Given the description of an element on the screen output the (x, y) to click on. 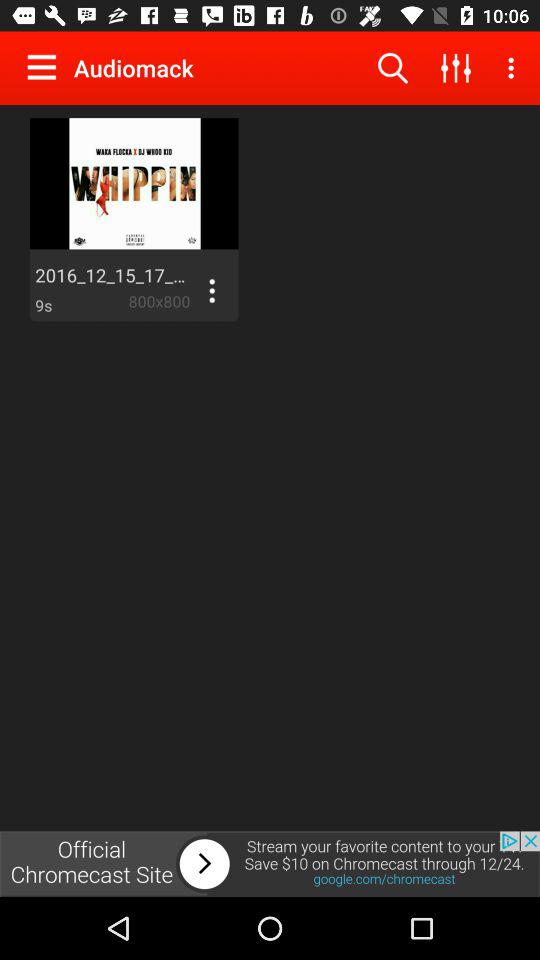
share a file (211, 291)
